Given the description of an element on the screen output the (x, y) to click on. 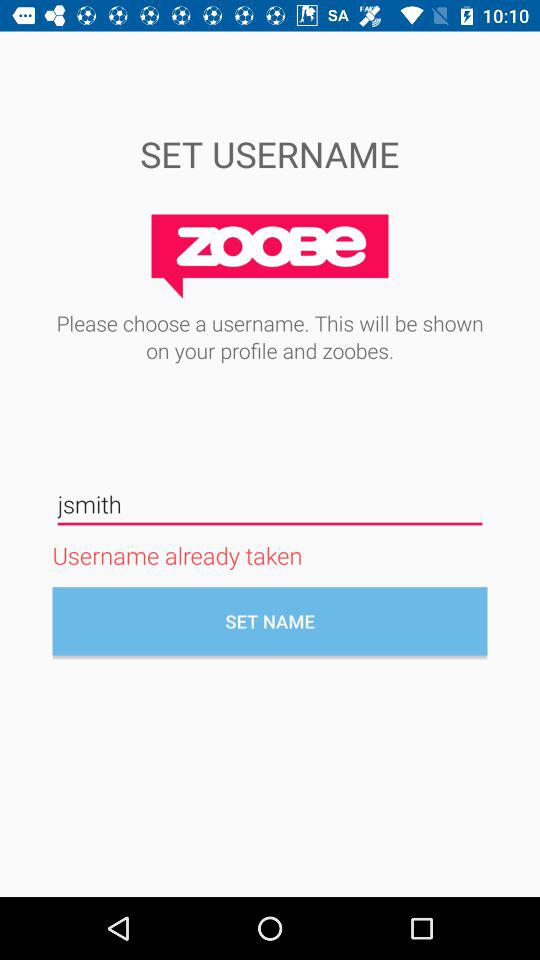
launch jsmith (269, 504)
